Given the description of an element on the screen output the (x, y) to click on. 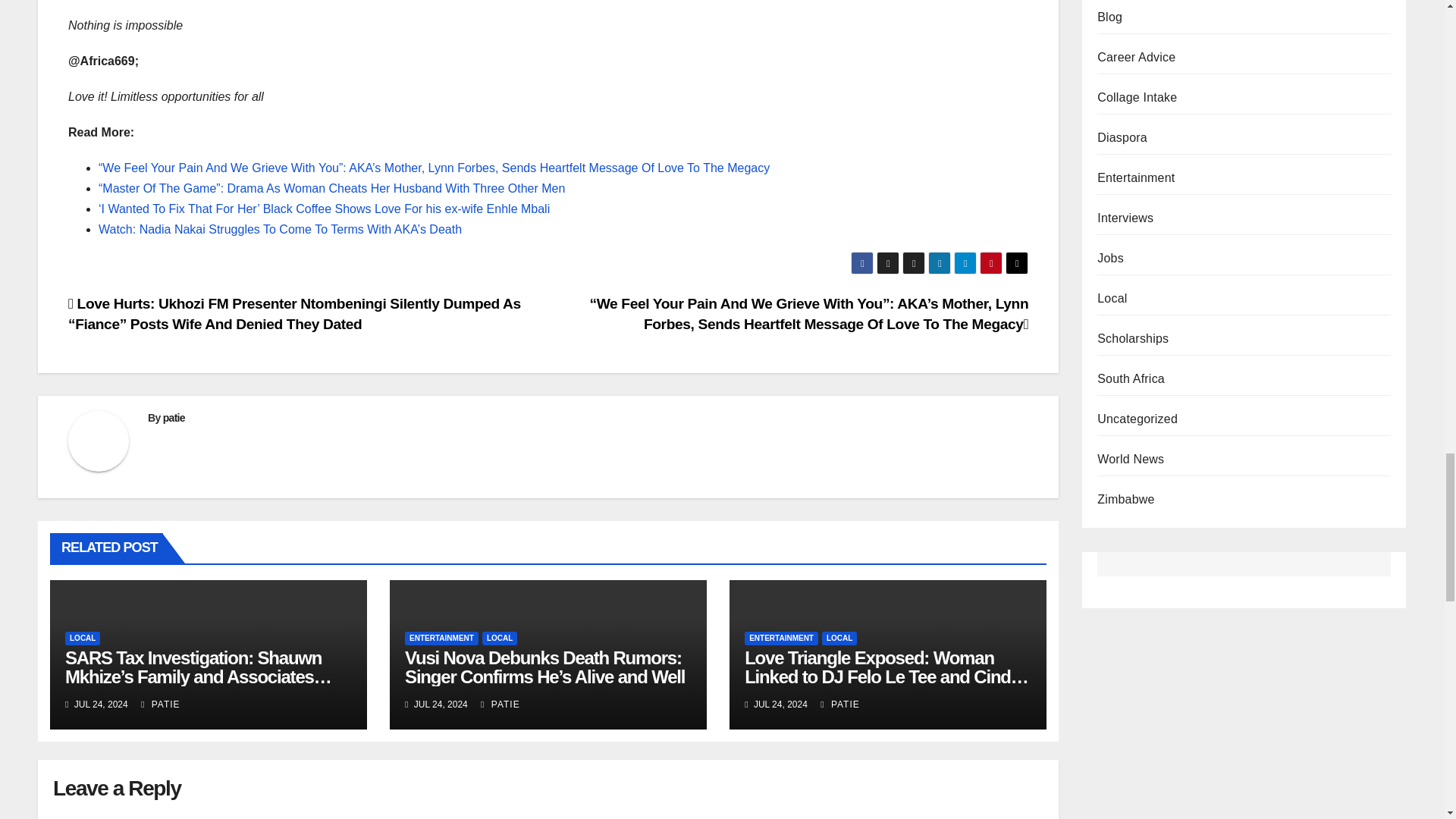
ENTERTAINMENT (441, 638)
patie (173, 417)
LOCAL (82, 638)
LOCAL (498, 638)
PATIE (160, 704)
